Given the description of an element on the screen output the (x, y) to click on. 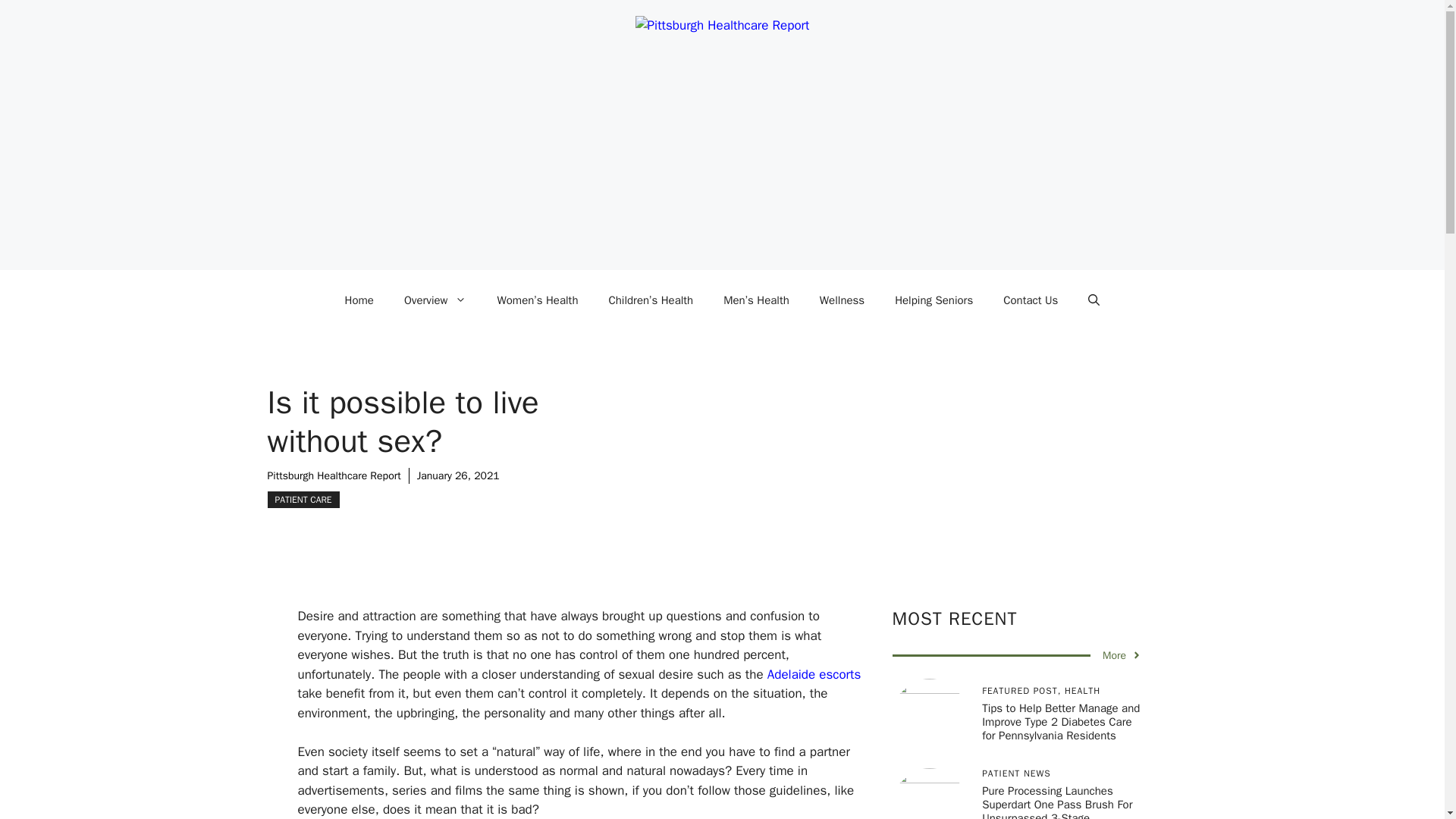
Wellness (842, 299)
Contact Us (1030, 299)
Pittsburgh Healthcare Report (333, 475)
Home (359, 299)
PATIENT CARE (302, 499)
Adelaide escorts (814, 674)
More (1121, 655)
Helping Seniors (933, 299)
